Given the description of an element on the screen output the (x, y) to click on. 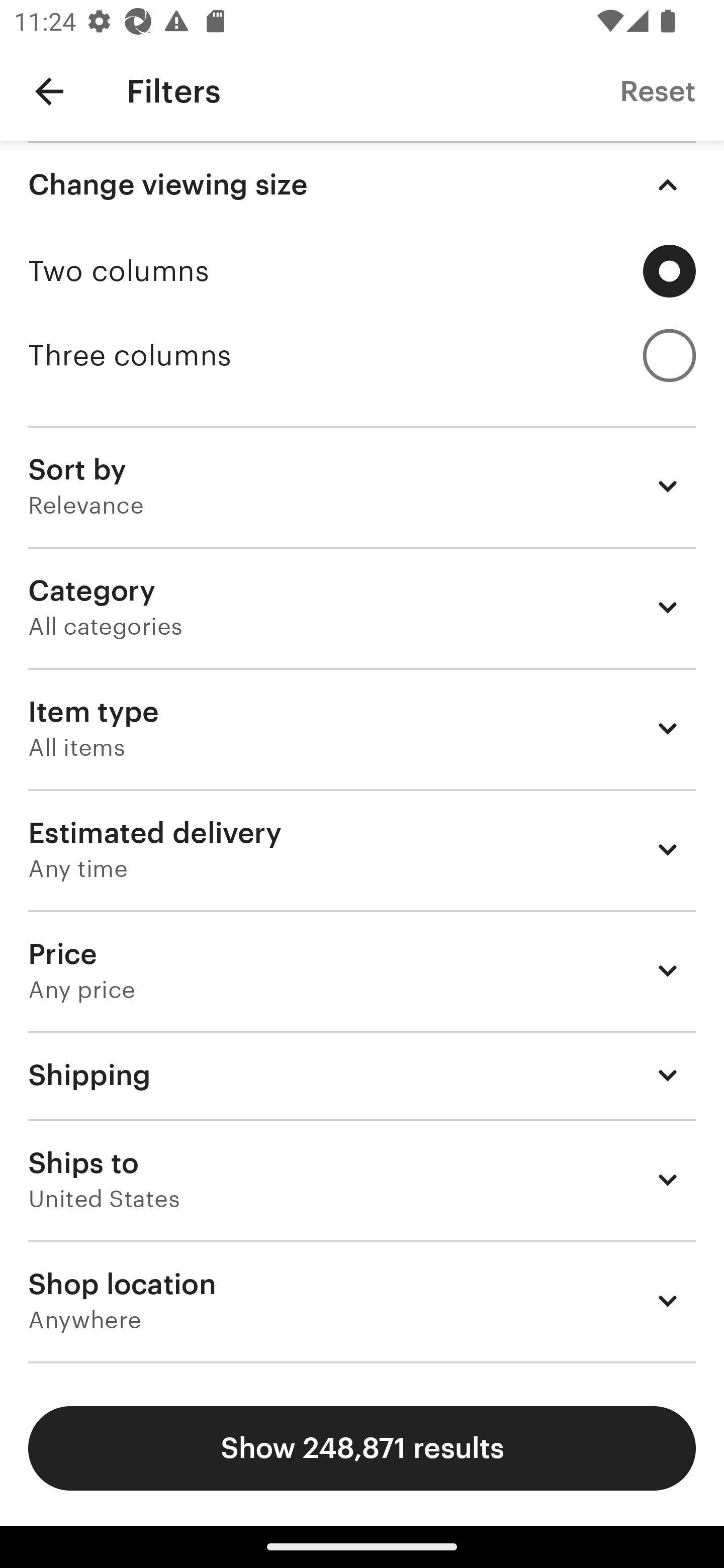
Navigate up (49, 91)
Reset (657, 90)
Change viewing size (362, 184)
Two columns (362, 270)
Three columns (362, 355)
Sort by Relevance (362, 485)
Category All categories (362, 607)
Item type All items (362, 727)
Estimated delivery Any time (362, 848)
Price Any price (362, 970)
Shipping (362, 1075)
Ships to United States (362, 1179)
Shop location Anywhere (362, 1300)
Show 248,871 results Show results (361, 1448)
